Given the description of an element on the screen output the (x, y) to click on. 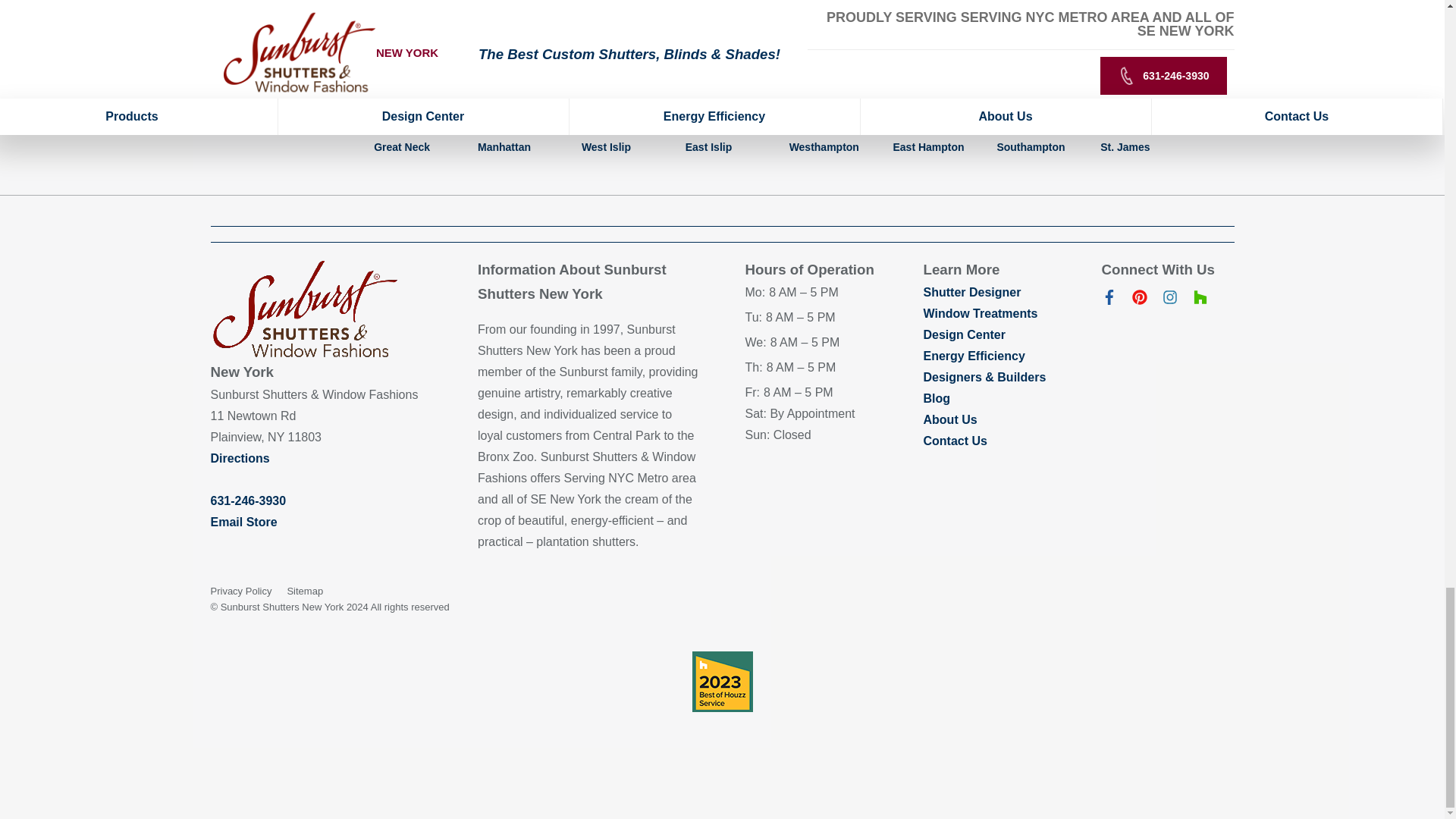
Follow us on Instagram (1168, 300)
Follow us on Pinterest (1139, 300)
Best Of Houzz 2024 (721, 681)
Save us on Houzz (1199, 300)
Like us on Facebook (1108, 300)
